Given the description of an element on the screen output the (x, y) to click on. 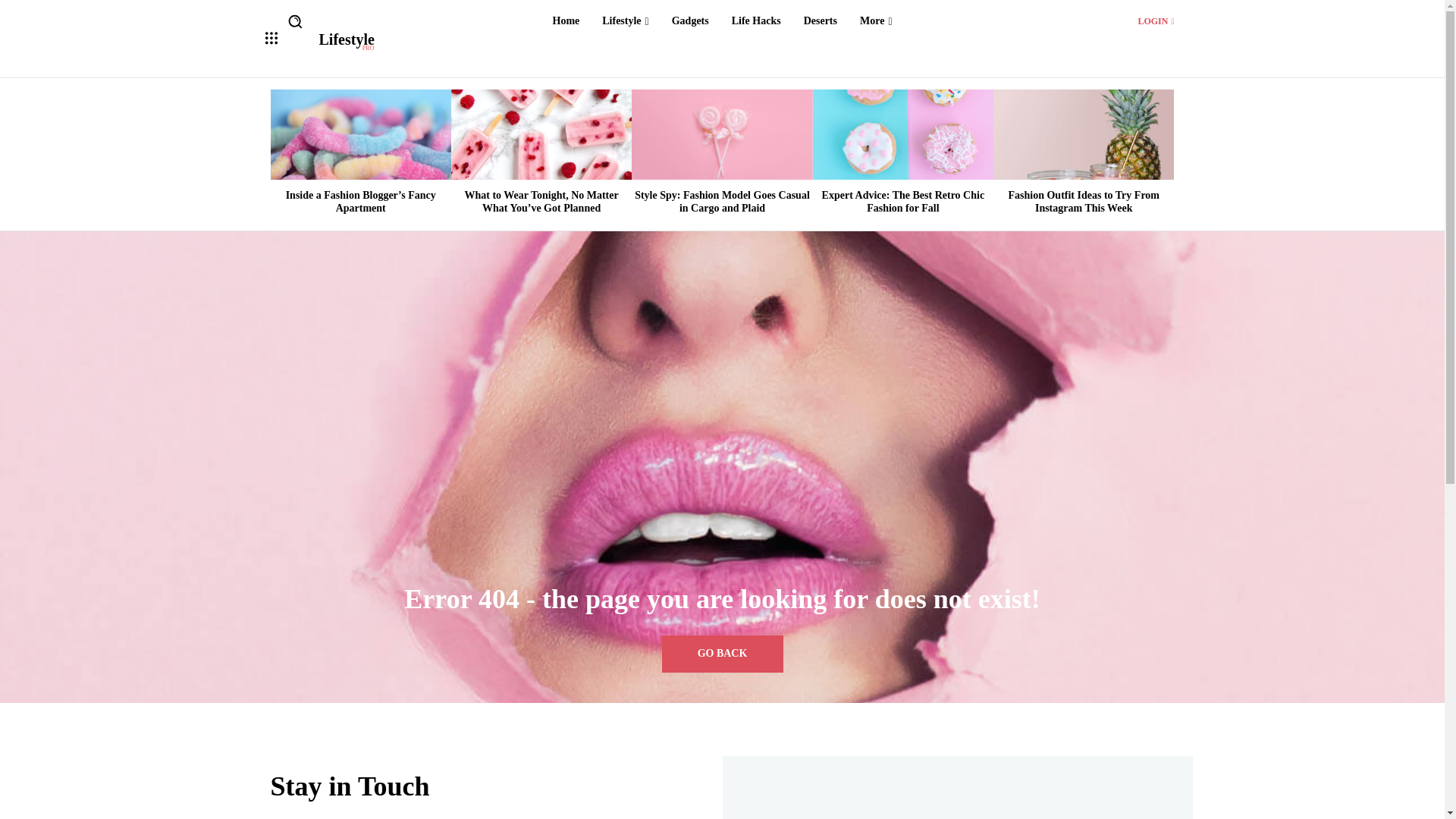
Deserts (346, 41)
Style Spy: Fashion Model Goes Casual in Cargo and Plaid (820, 20)
Style Spy: Fashion Model Goes Casual in Cargo and Plaid (721, 134)
More (721, 201)
Gadgets (875, 20)
LOGIN (689, 20)
Expert Advice: The Best Retro Chic Fashion for Fall (1155, 20)
Expert Advice: The Best Retro Chic Fashion for Fall (902, 134)
Life Hacks (903, 201)
Home (756, 20)
Lifestyle (565, 20)
